Given the description of an element on the screen output the (x, y) to click on. 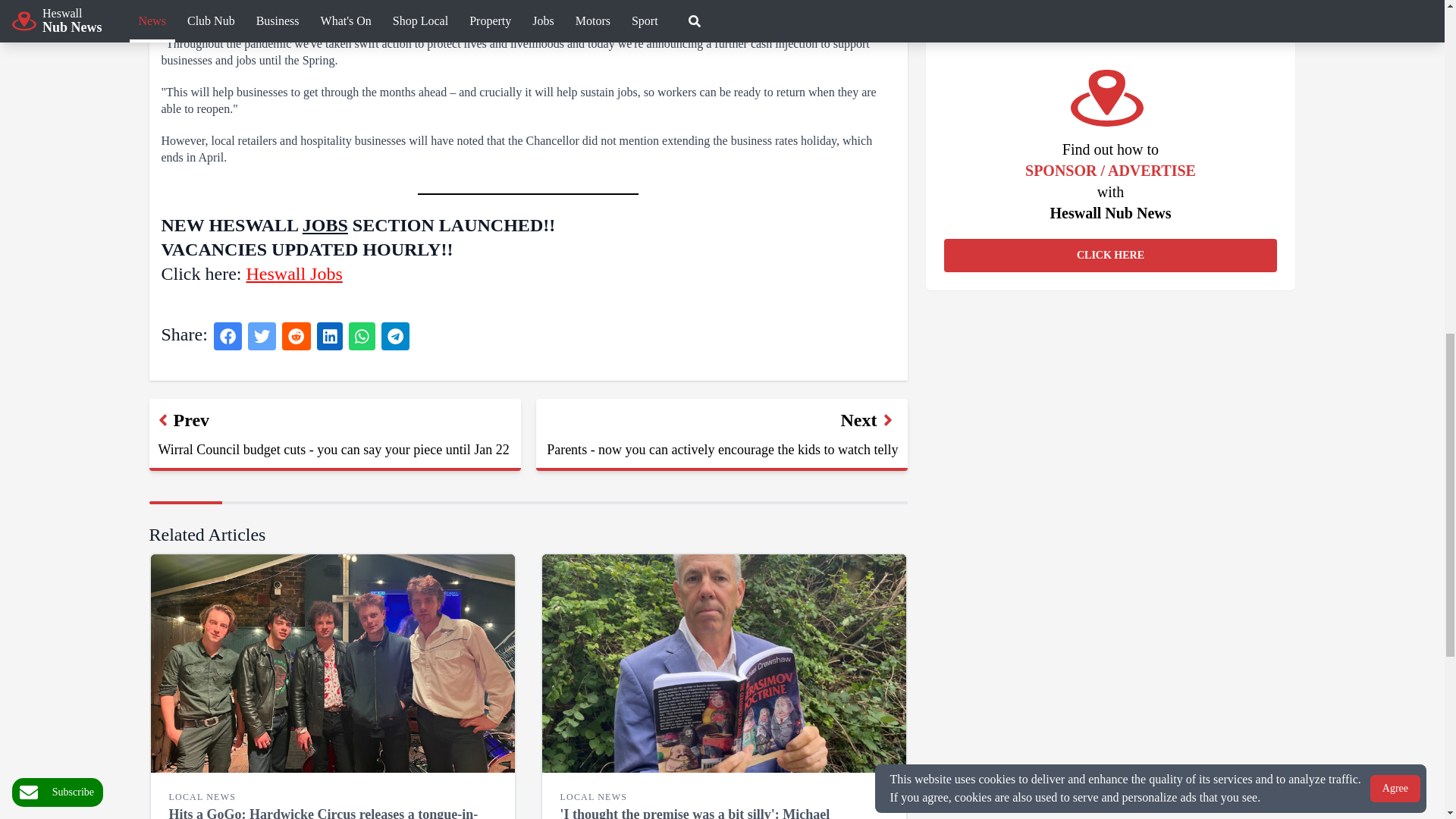
3rd party ad content (1109, 7)
